Given the description of an element on the screen output the (x, y) to click on. 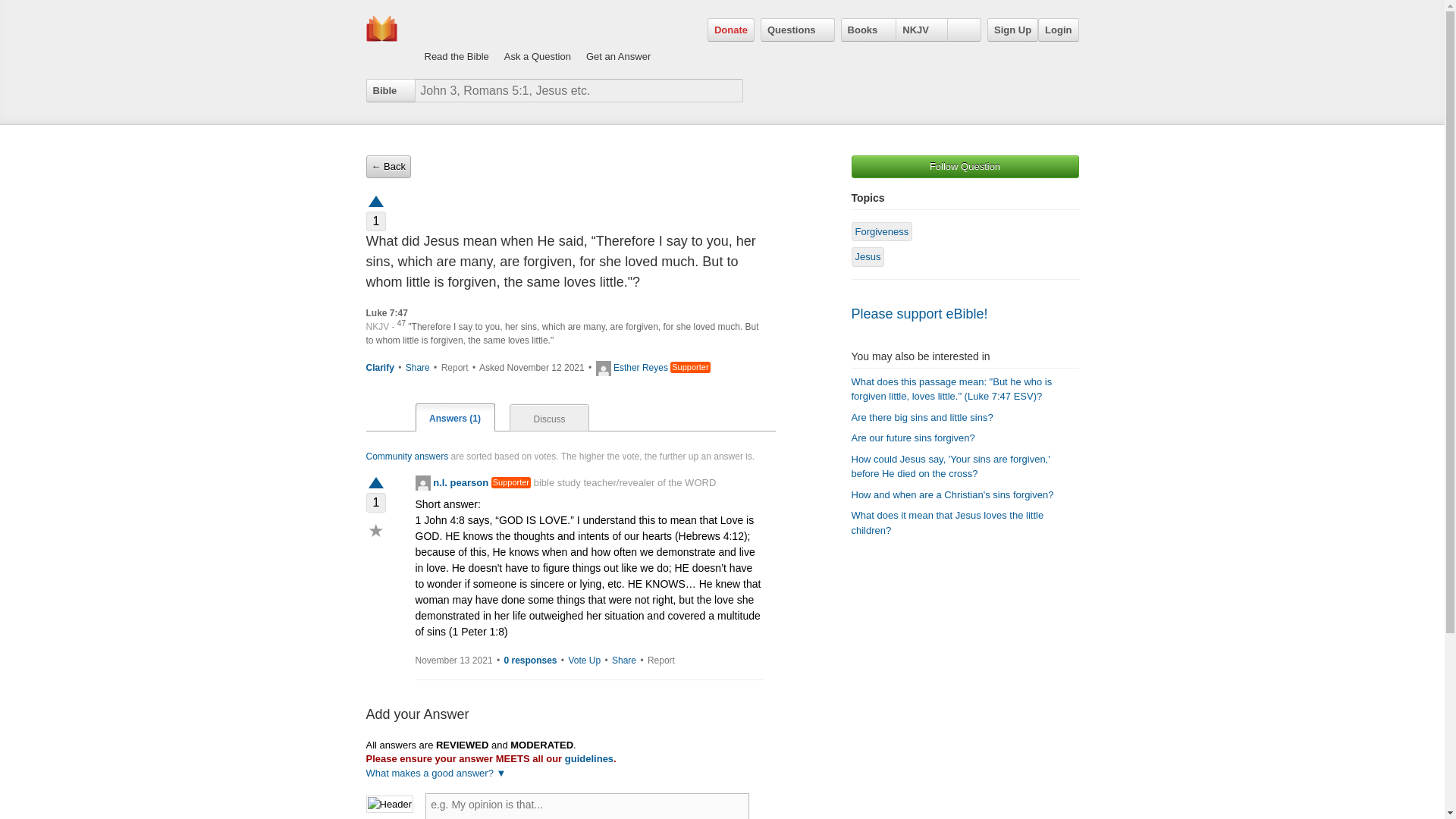
Donate (730, 29)
Vote Up (375, 482)
Get an Answer (618, 41)
Vote Up (583, 660)
Books (868, 29)
Read the Bible (457, 41)
Vote Question Up (375, 200)
Questions (797, 29)
Ask a Question (536, 41)
